Given the description of an element on the screen output the (x, y) to click on. 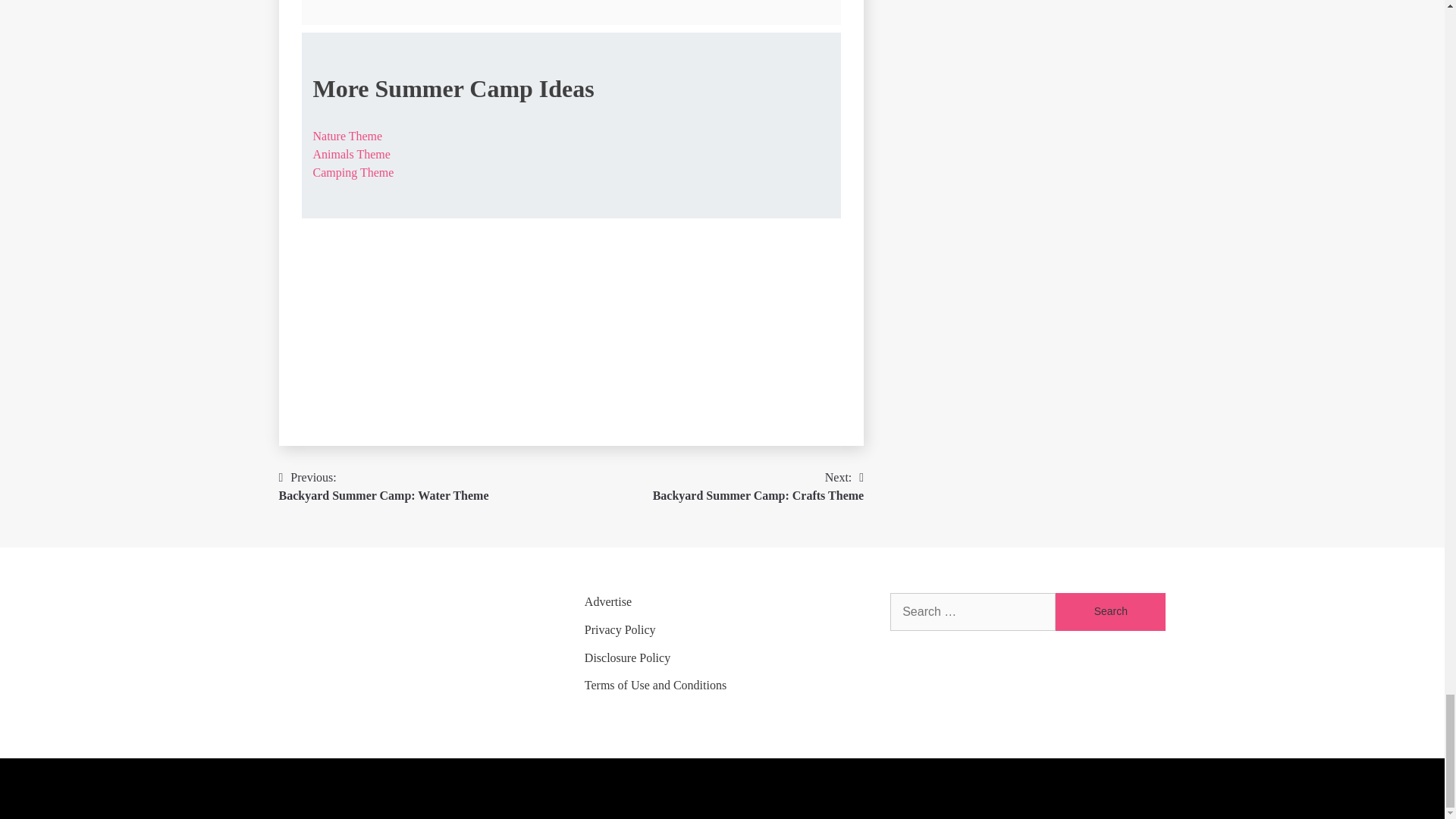
Search (1110, 611)
Search (1110, 611)
